Given the description of an element on the screen output the (x, y) to click on. 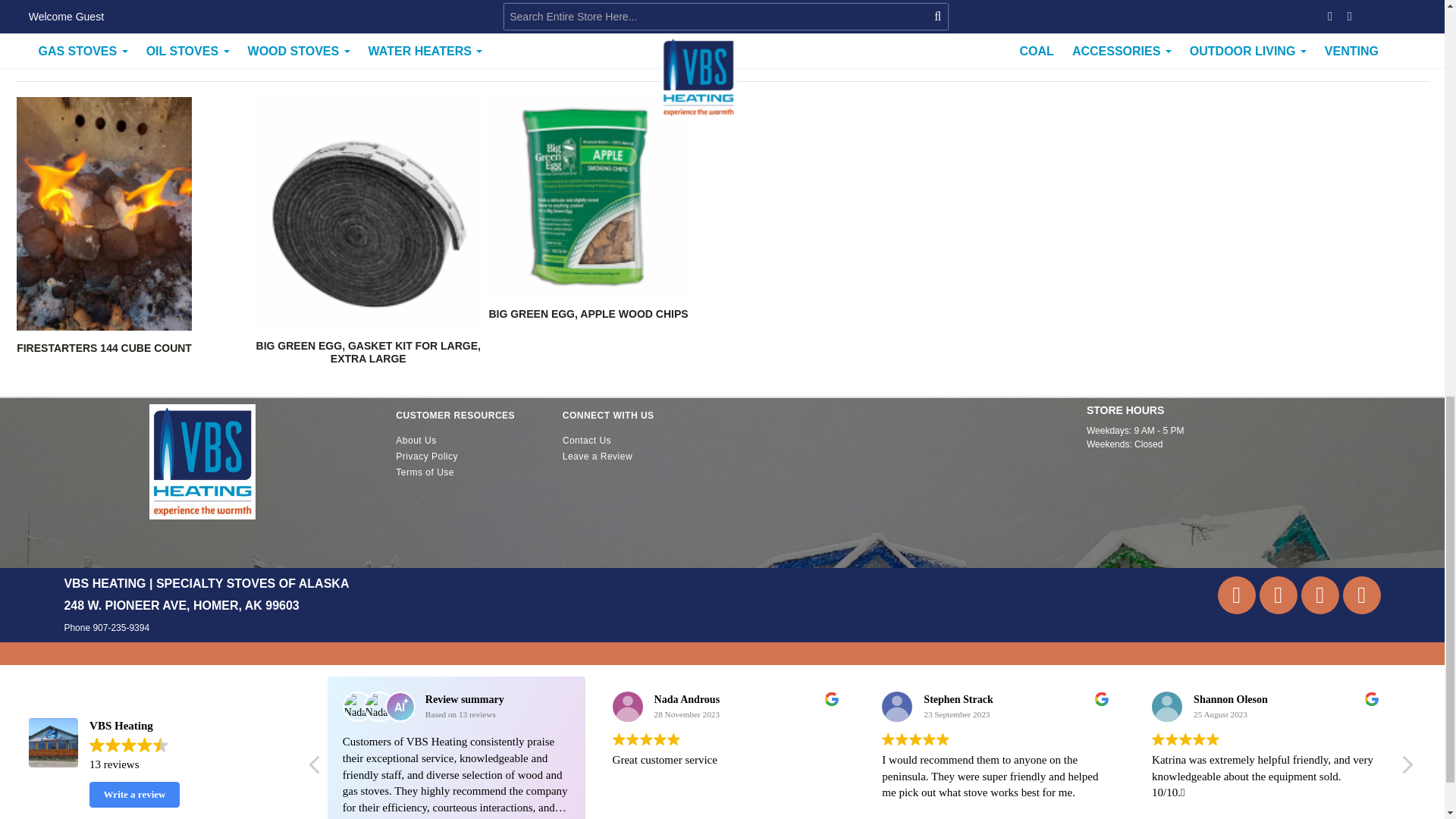
Firestarters 144 Cube Count  (104, 347)
Big Green Egg, Gasket Kit for Large, Extra Large  (368, 352)
Big Green Egg, Apple Wood Chips (587, 196)
Facebook (1361, 595)
Instagram (1320, 595)
Big Green Egg, Gasket Kit for Large, Extra Large (367, 212)
Big Green Egg, Apple Wood Chips  (587, 313)
